Given the description of an element on the screen output the (x, y) to click on. 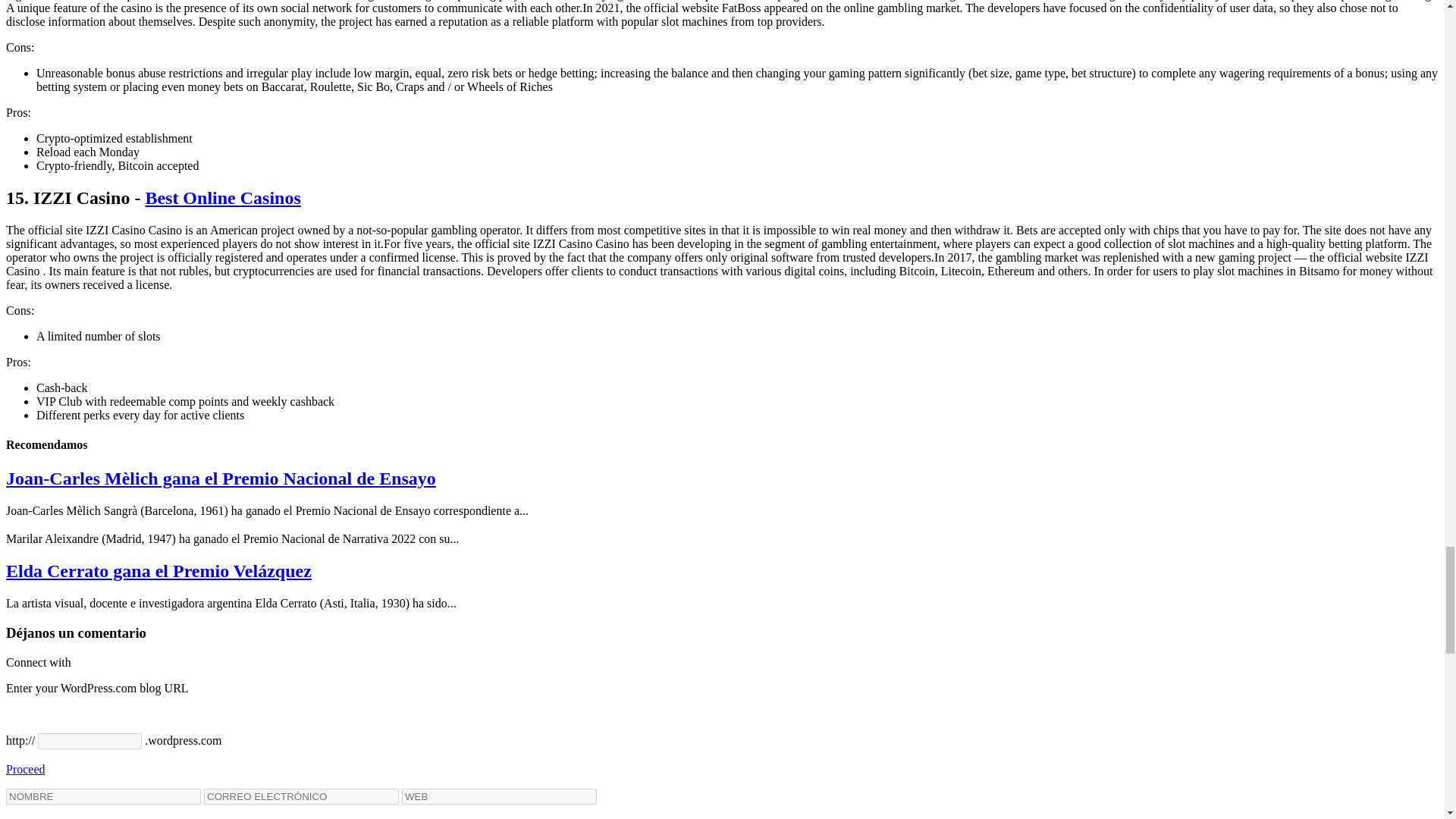
Proceed (25, 768)
Best Online Casinos (221, 198)
